Given the description of an element on the screen output the (x, y) to click on. 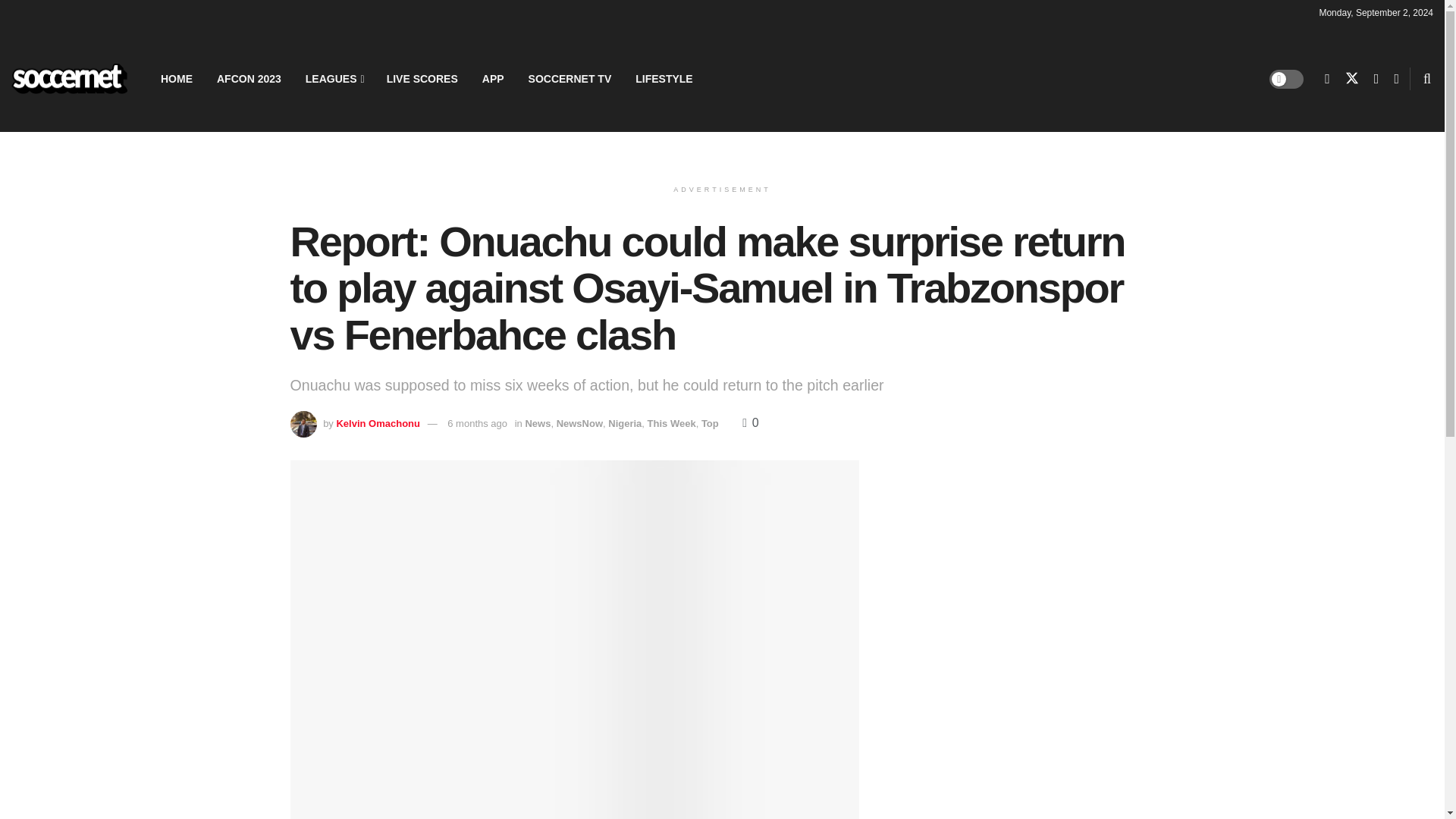
AFCON 2023 (249, 78)
LIVE SCORES (422, 78)
HOME (176, 78)
APP (493, 78)
Kelvin Omachonu (378, 423)
LEAGUES (334, 78)
LIFESTYLE (663, 78)
SOCCERNET TV (570, 78)
